Given the description of an element on the screen output the (x, y) to click on. 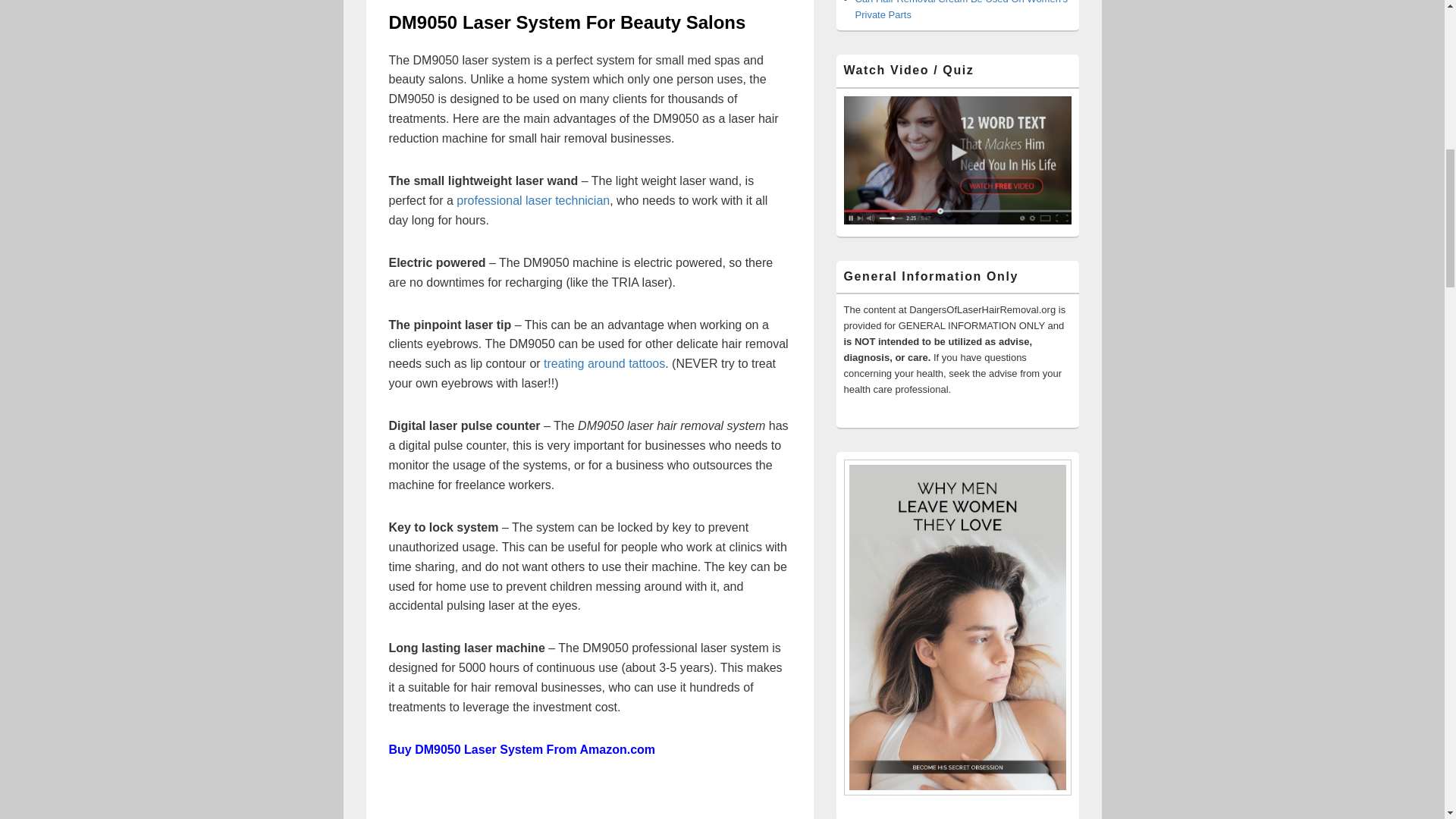
treating around tattoos (604, 363)
professional laser technician (533, 200)
Buy DM9050 Laser System From Amazon.com (521, 748)
Laser Hair Removal Over Tattoos (604, 363)
